Given the description of an element on the screen output the (x, y) to click on. 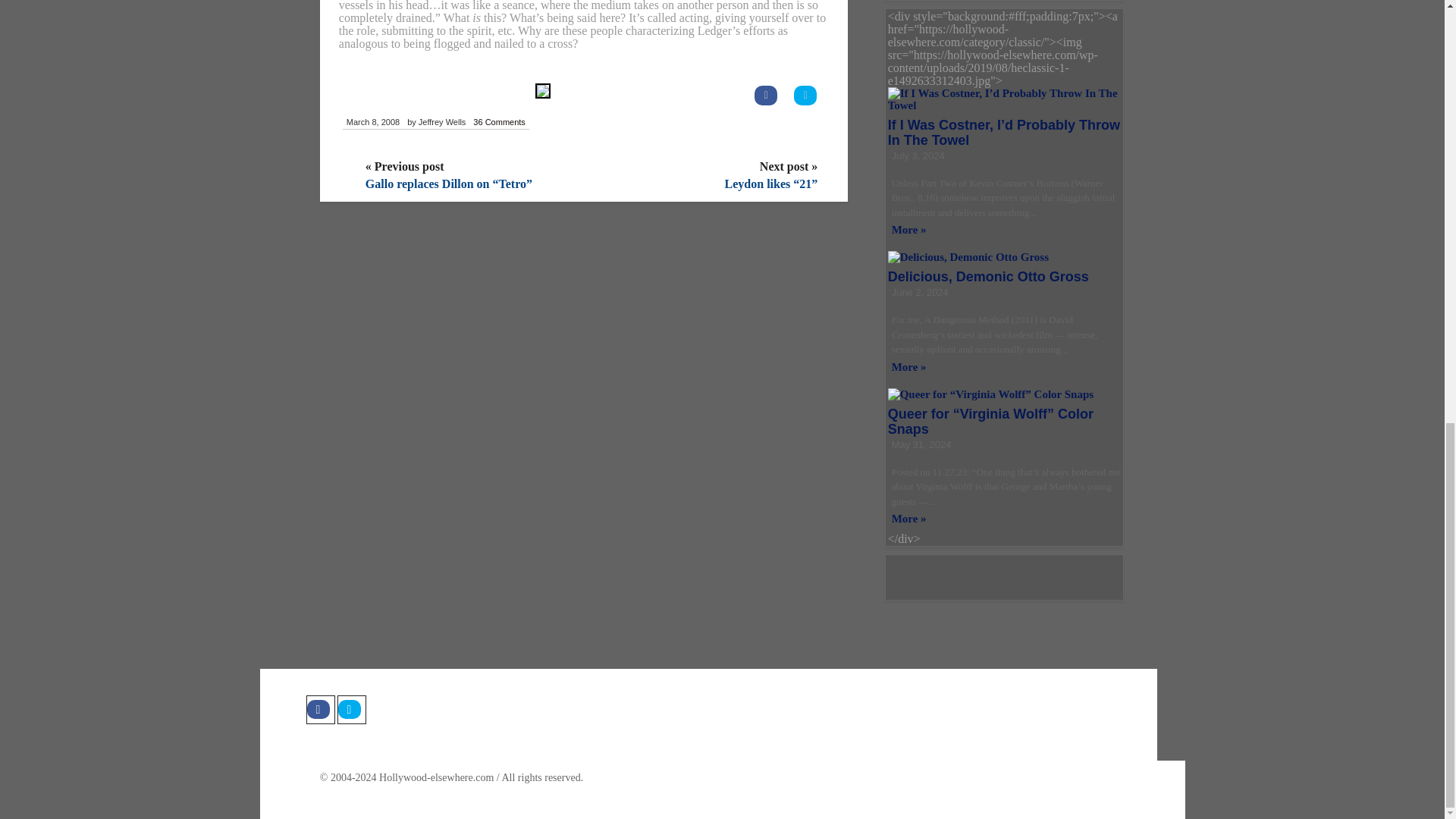
Twitter (350, 709)
Facebook (319, 709)
36 Comments (498, 122)
by Jeffrey Wells (435, 122)
March 8, 2008 (372, 122)
